Given the description of an element on the screen output the (x, y) to click on. 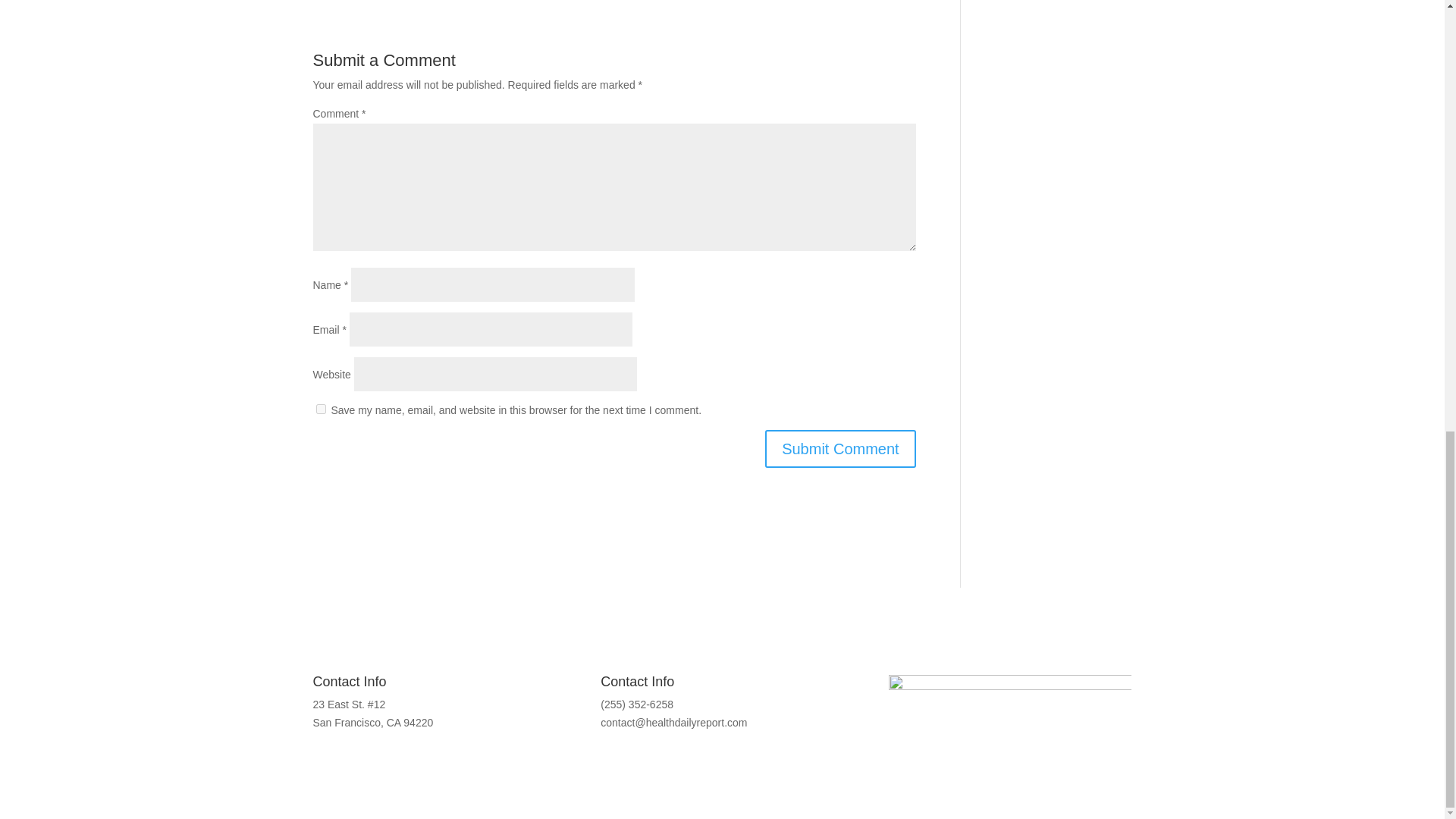
Submit Comment (840, 448)
Submit Comment (840, 448)
yes (319, 409)
